Given the description of an element on the screen output the (x, y) to click on. 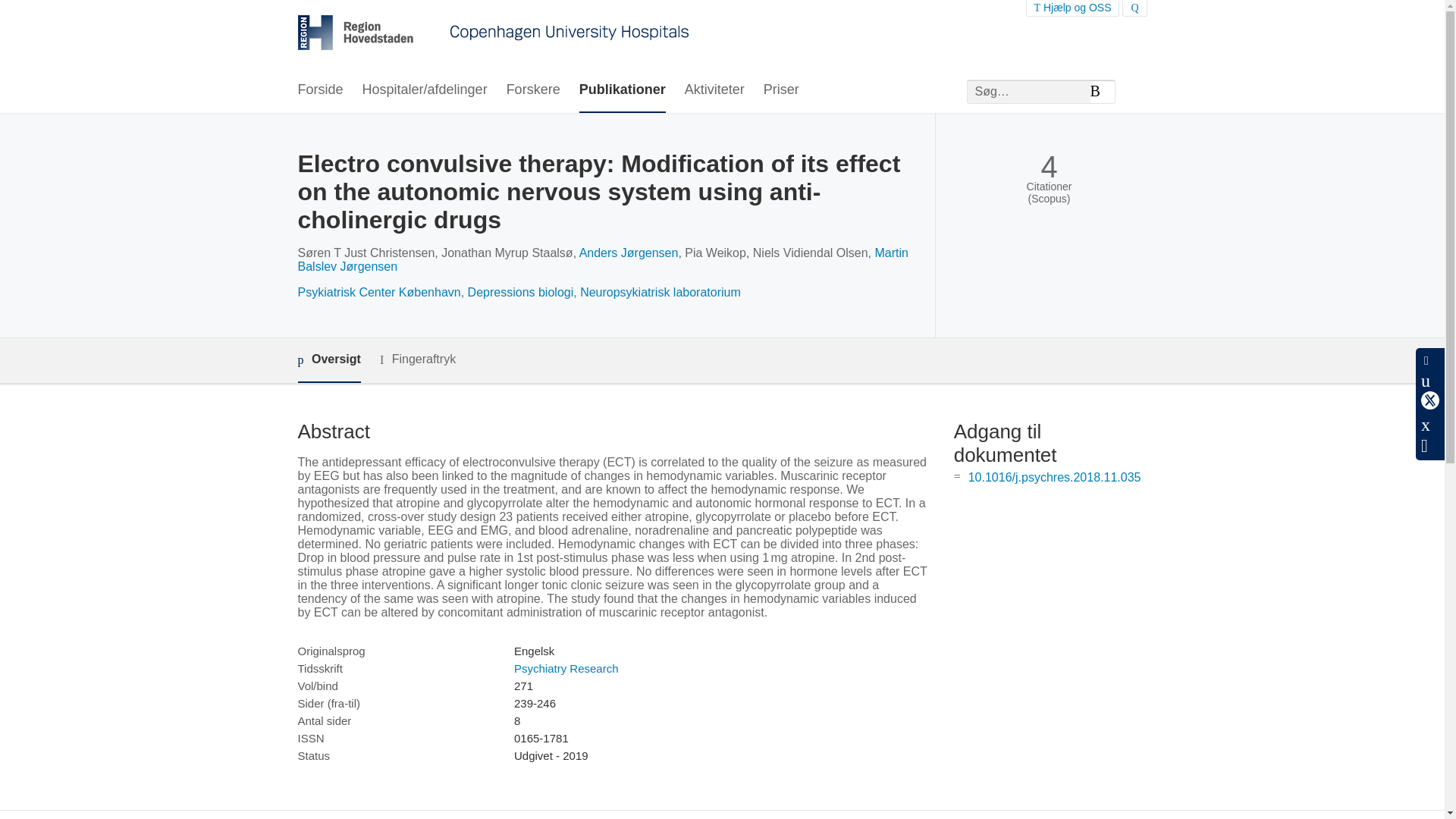
Forside (319, 90)
Fingeraftryk (417, 359)
Aktiviteter (714, 90)
Psychiatry Research (565, 667)
Forskere (533, 90)
Region Hovedstadens forskningsportal Forside (492, 34)
Publikationer (622, 90)
Depressions biologi (520, 291)
Neuropsykiatrisk laboratorium (660, 291)
Oversigt (328, 360)
